Given the description of an element on the screen output the (x, y) to click on. 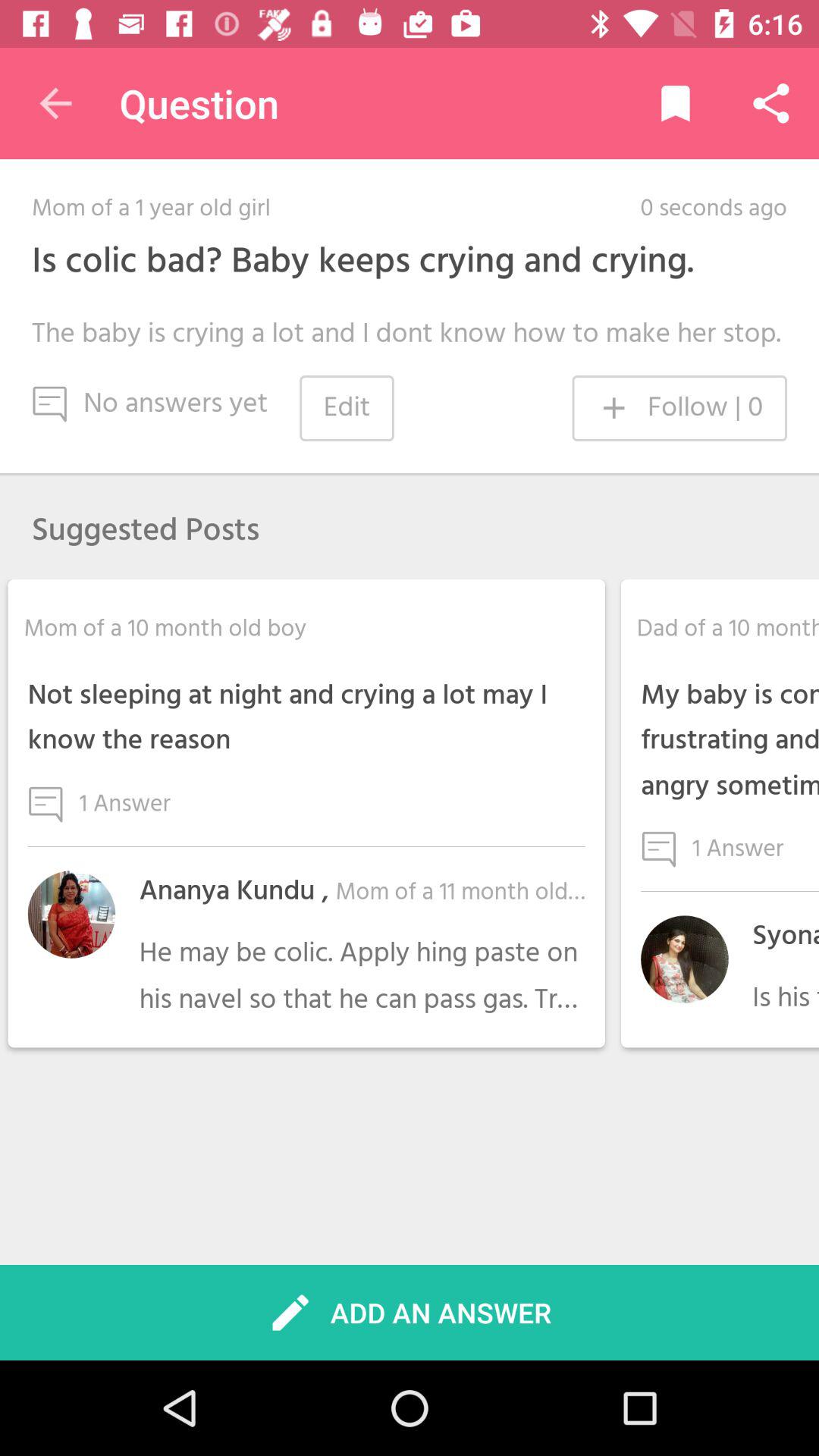
choose icon below he may be icon (408, 1312)
